Given the description of an element on the screen output the (x, y) to click on. 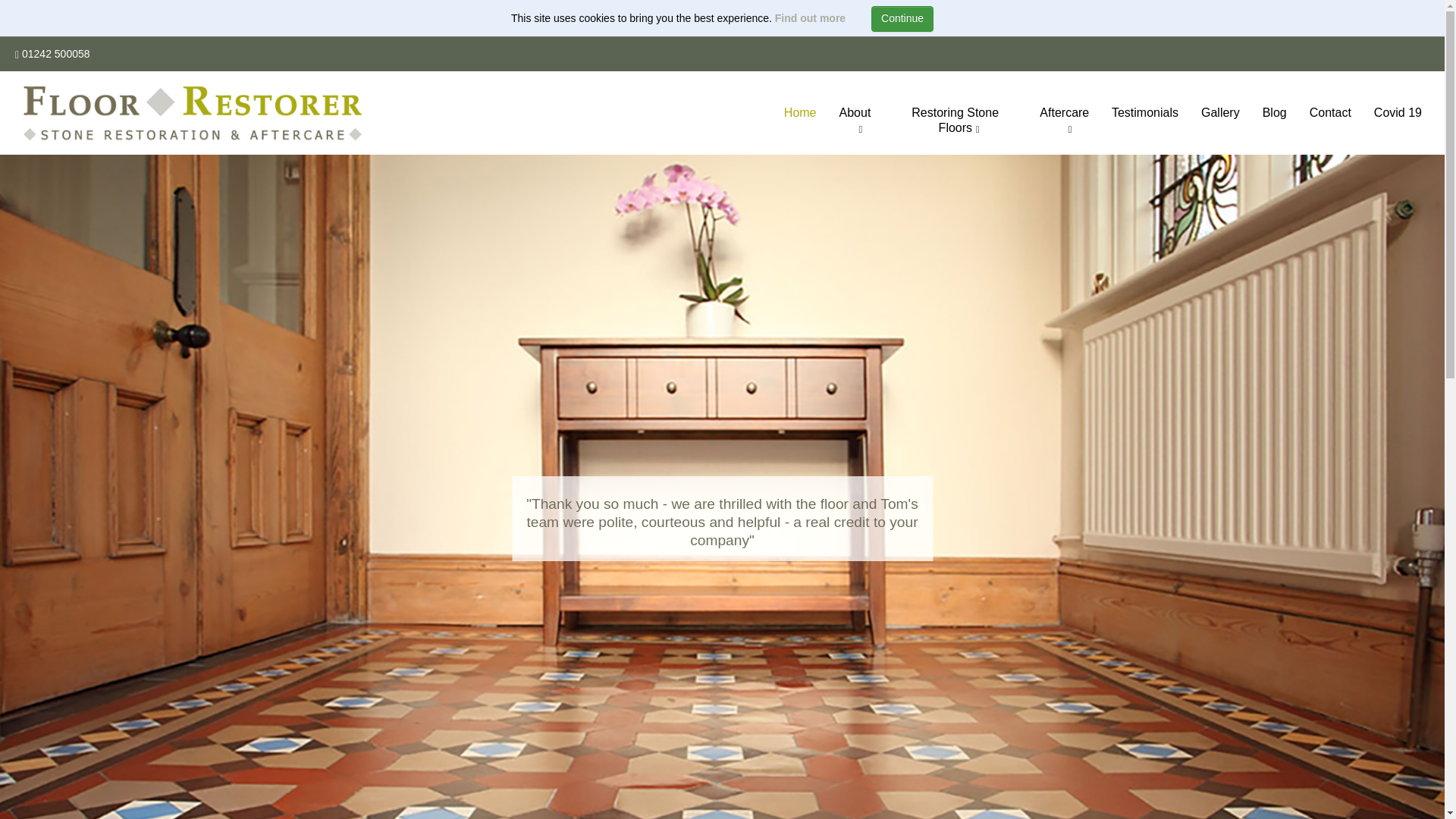
Blog (1274, 112)
Home (800, 112)
Contact (1330, 112)
Continue (901, 18)
Gallery (1219, 112)
Aftercare (1063, 120)
Skip to main content (21, 21)
Testimonials (1144, 112)
Covid 19 (1397, 112)
Continue (901, 18)
Find out more (809, 18)
About (855, 120)
Restoring Stone Floors (954, 120)
